Given the description of an element on the screen output the (x, y) to click on. 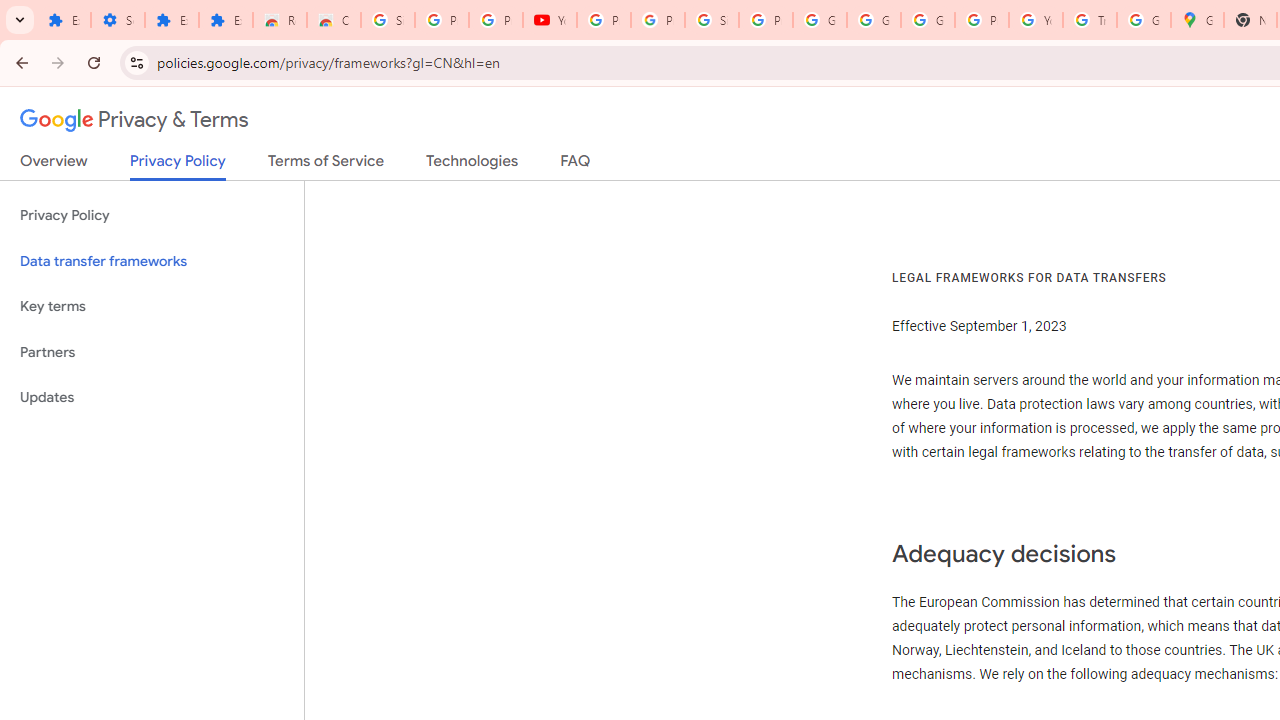
Sign in - Google Accounts (711, 20)
Extensions (171, 20)
Extensions (63, 20)
